Given the description of an element on the screen output the (x, y) to click on. 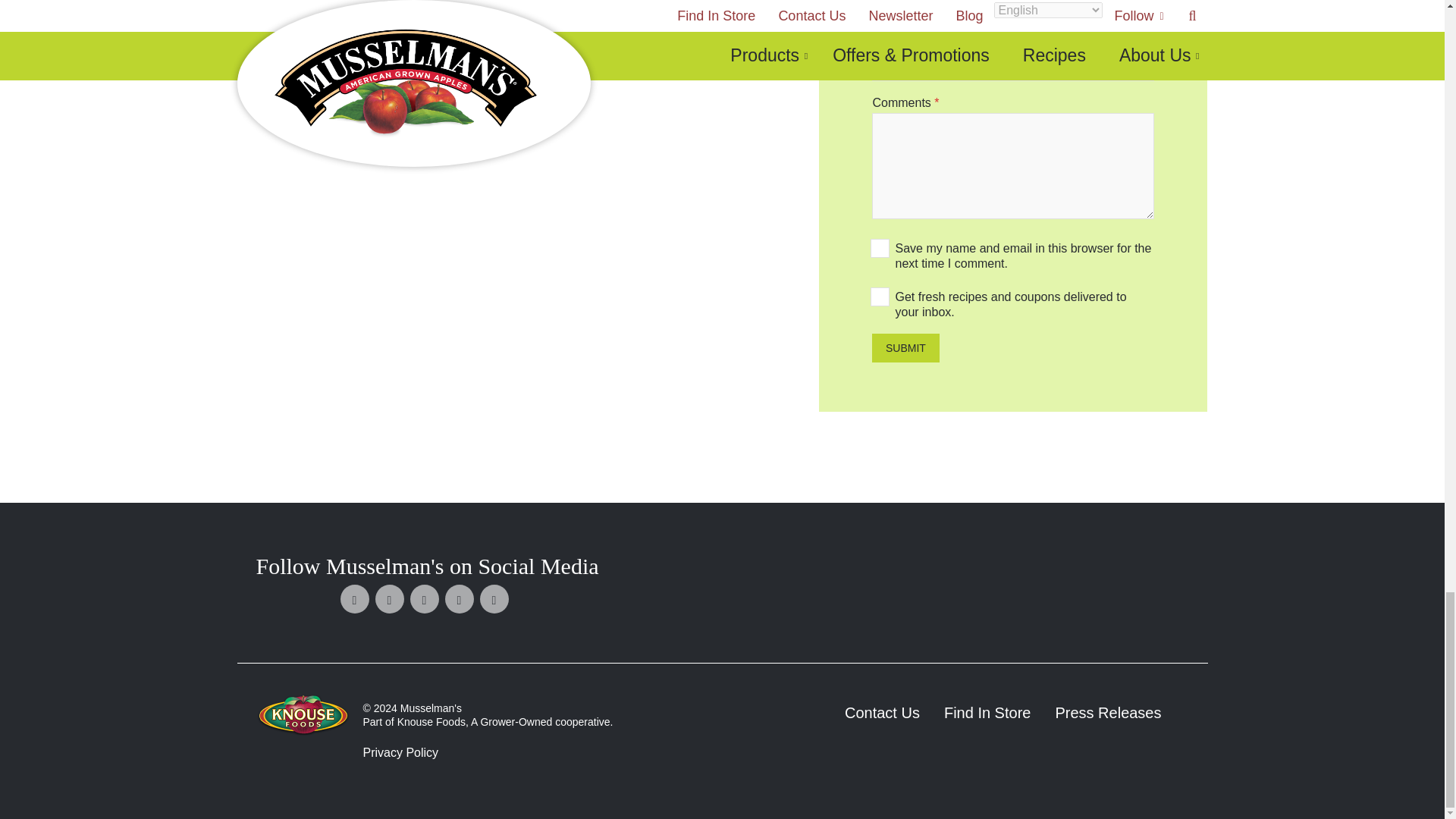
Submit (905, 347)
Instagram (459, 598)
Twitter (389, 598)
Facebook (354, 598)
Pinterest (424, 598)
YouTube (494, 598)
